Given the description of an element on the screen output the (x, y) to click on. 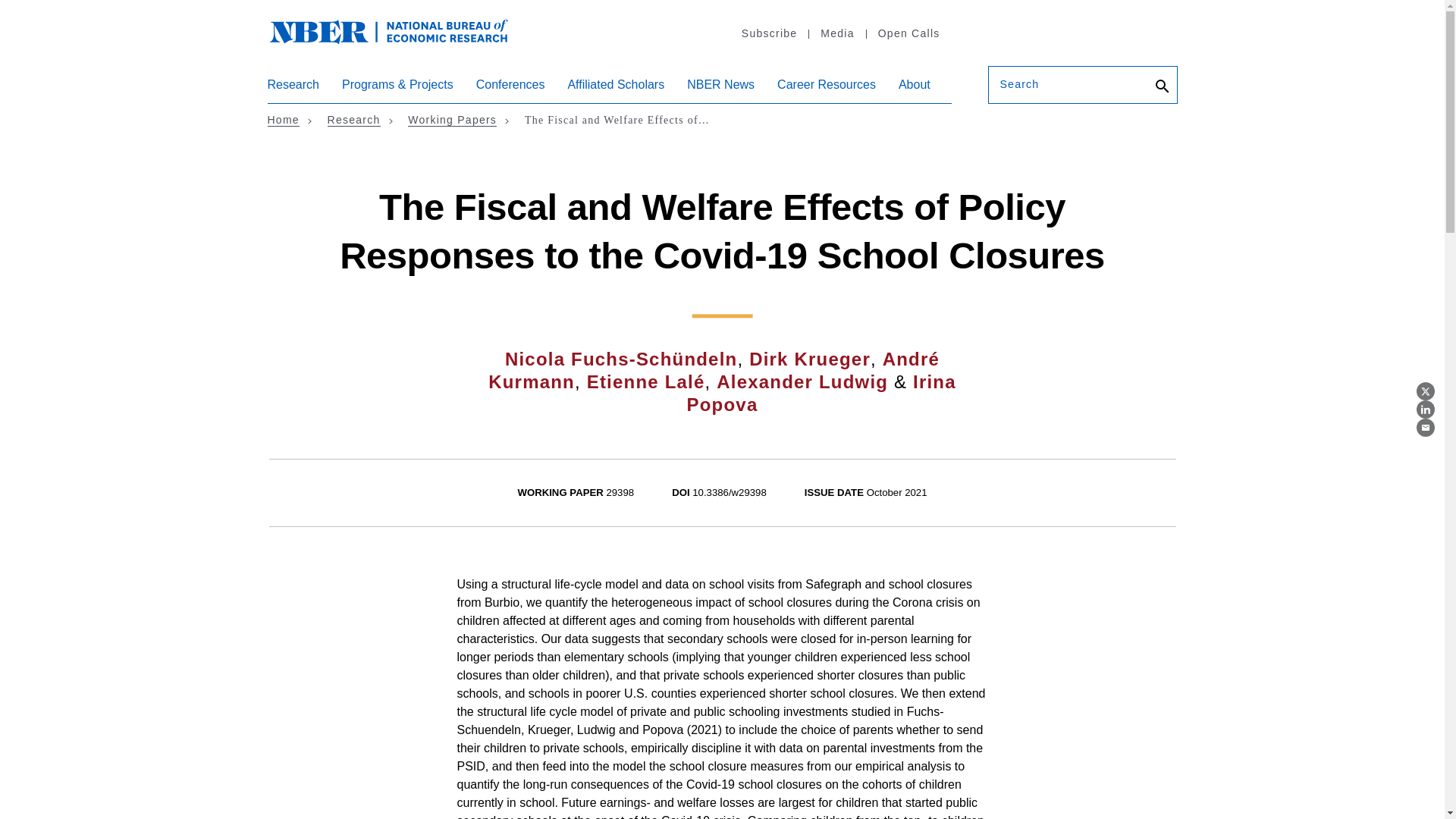
LinkedIn (1425, 409)
Media (836, 33)
Twitter (1425, 391)
Open Calls (909, 33)
NBER: National Bureau of Economic Research (387, 31)
Email (1425, 427)
Research (292, 90)
Subscribe (769, 33)
NBER: National Bureau of Economic Research (400, 39)
